Given the description of an element on the screen output the (x, y) to click on. 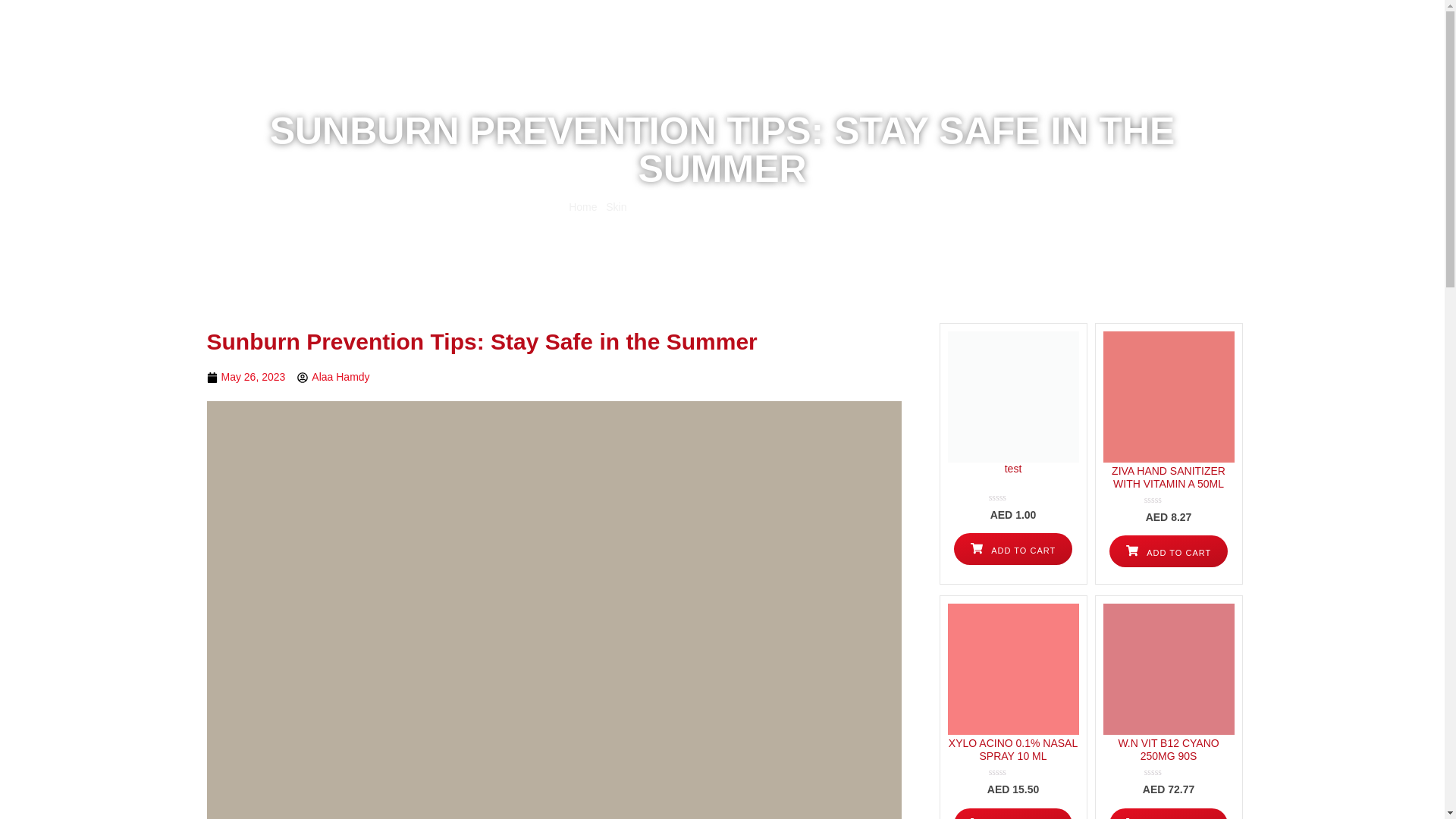
Health Calculator (1014, 65)
About Us (929, 65)
My Account (1129, 12)
Career (1094, 65)
Book an appointment (785, 65)
